Given the description of an element on the screen output the (x, y) to click on. 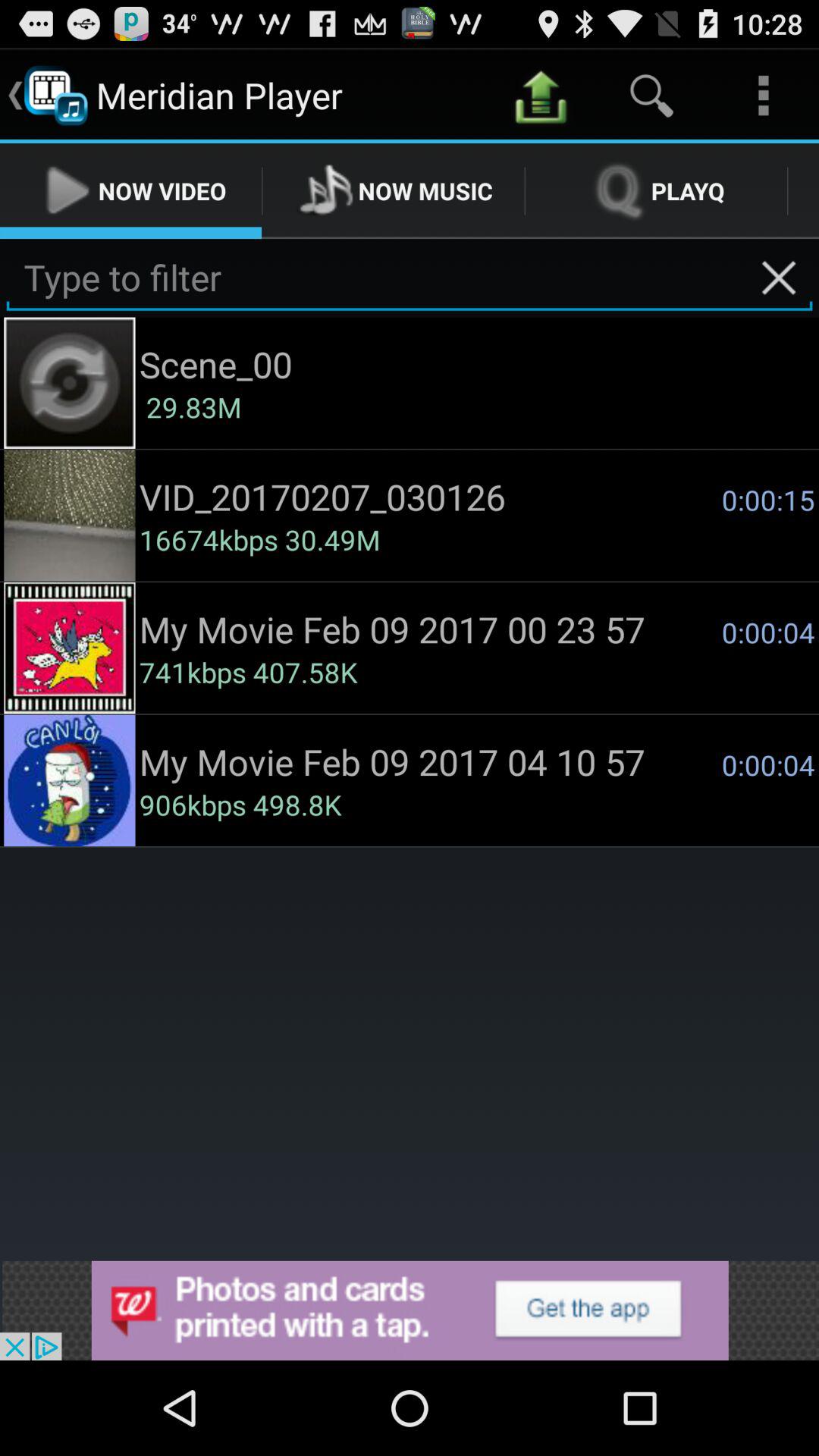
go to google play (409, 1310)
